Given the description of an element on the screen output the (x, y) to click on. 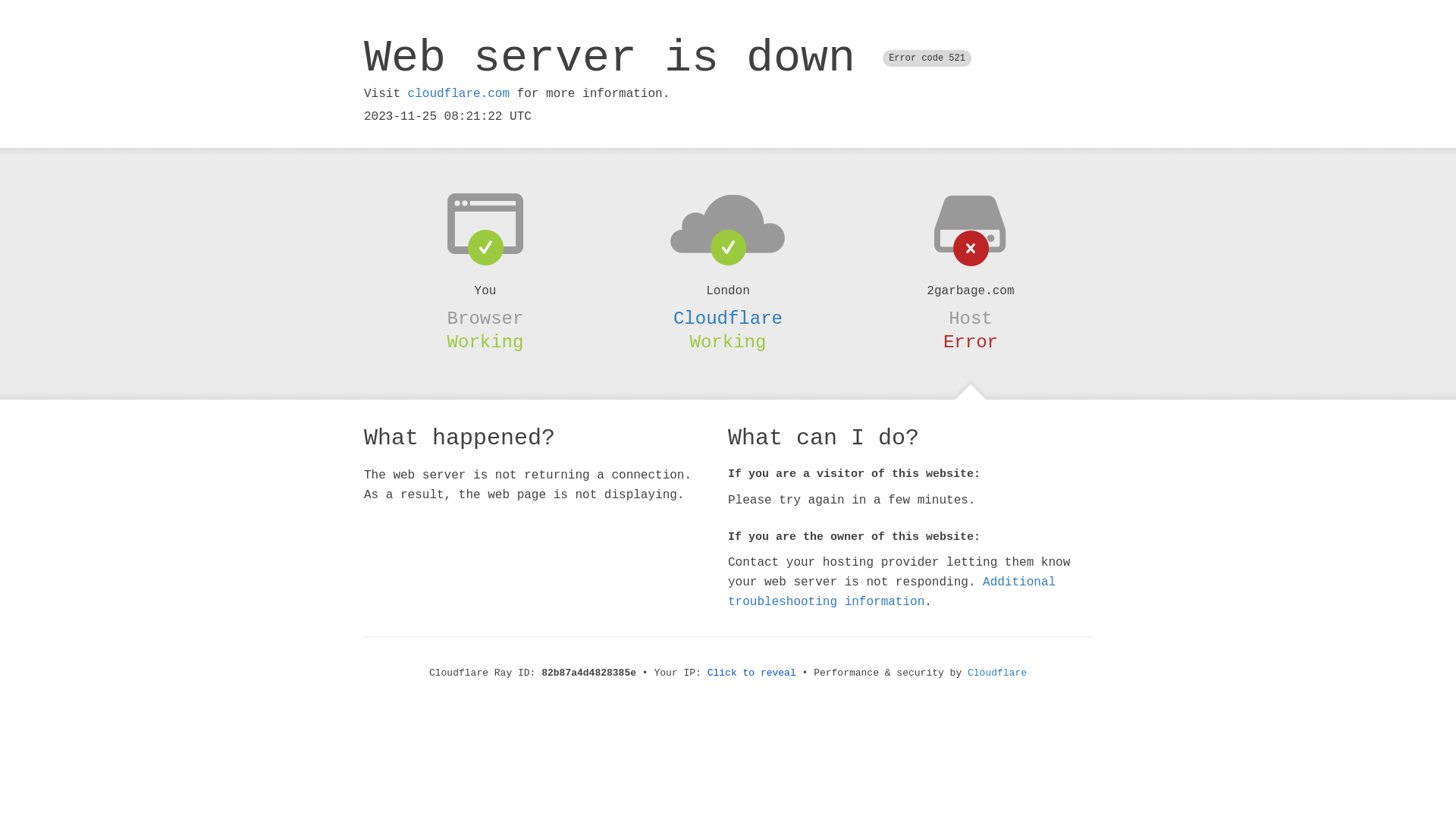
Cloudflare Element type: text (996, 672)
Click to reveal Element type: text (751, 672)
Additional troubleshooting information Element type: text (891, 591)
cloudflare.com Element type: text (458, 93)
Cloudflare Element type: text (727, 318)
